Given the description of an element on the screen output the (x, y) to click on. 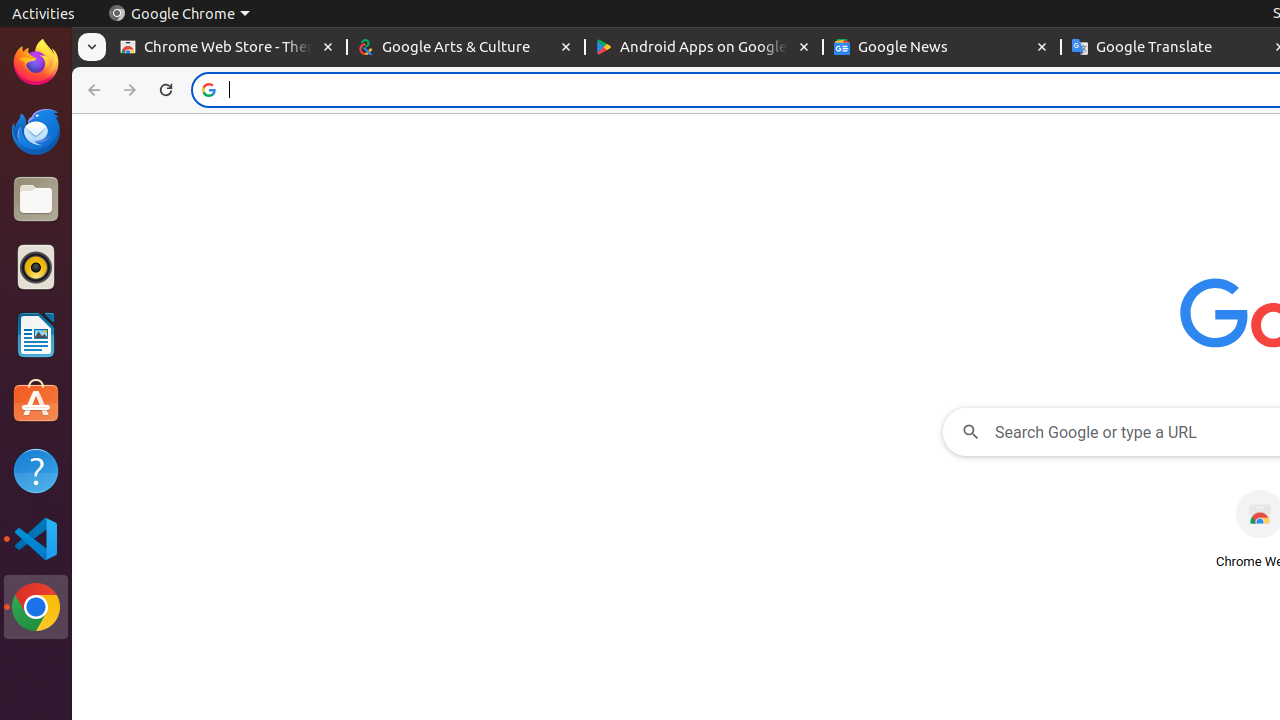
Ubuntu Software Element type: push-button (36, 402)
Google Chrome Element type: push-button (36, 607)
Google Arts & Culture - Memory usage - 58.4 MB Element type: page-tab (466, 47)
Google Chrome Element type: menu (179, 13)
Android Apps on Google Play - Memory usage - 60.7 MB Element type: page-tab (704, 47)
